Given the description of an element on the screen output the (x, y) to click on. 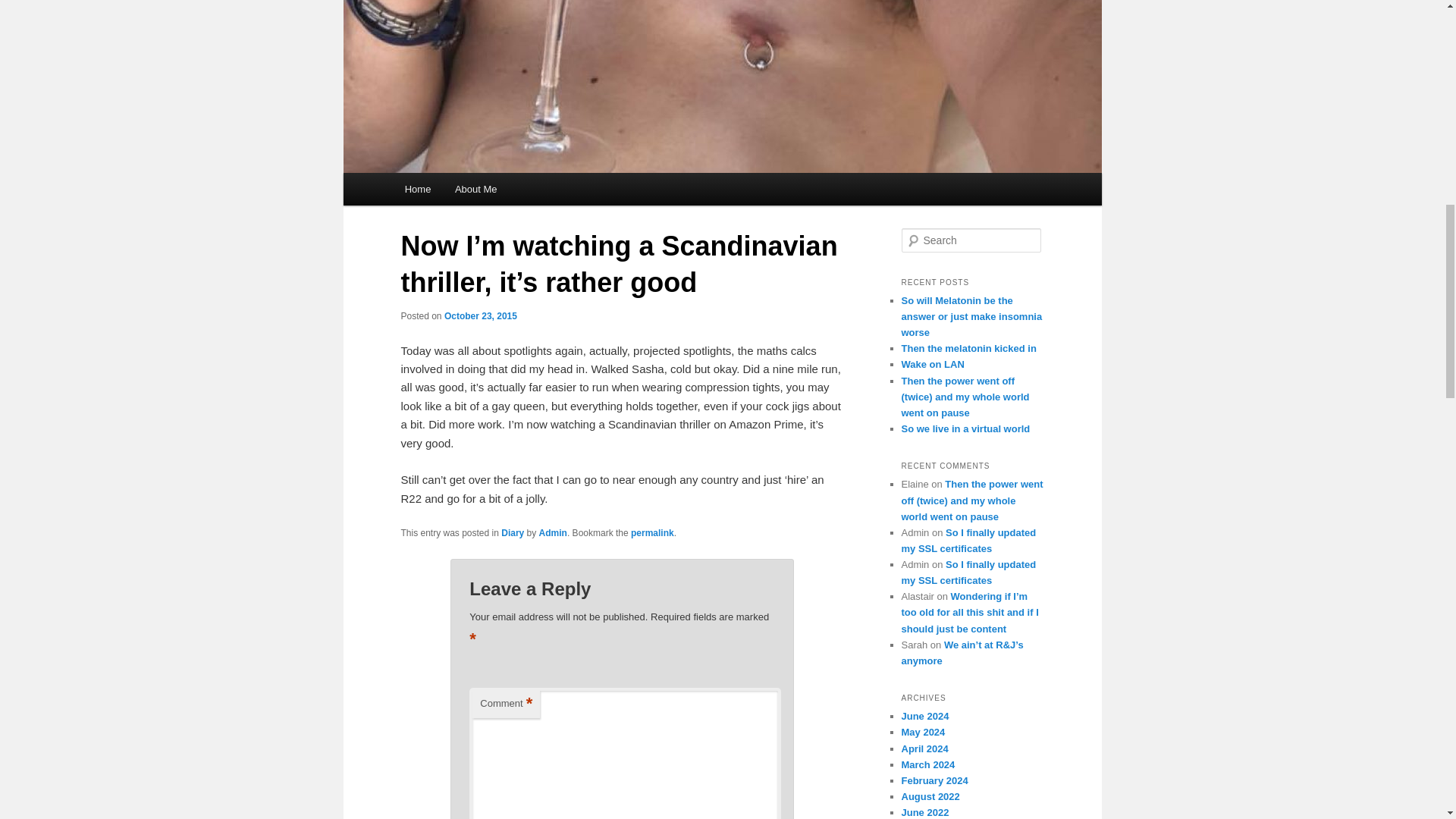
Home (417, 188)
February 2024 (934, 780)
April 2024 (924, 748)
So we live in a virtual world (965, 428)
June 2022 (925, 812)
Admin (552, 532)
June 2024 (925, 715)
12:43 am (480, 316)
October 23, 2015 (480, 316)
So I finally updated my SSL certificates (968, 572)
Then the melatonin kicked in (968, 348)
So will Melatonin be the answer or just make insomnia worse (971, 316)
Wake on LAN (932, 364)
March 2024 (928, 764)
August 2022 (930, 796)
